Given the description of an element on the screen output the (x, y) to click on. 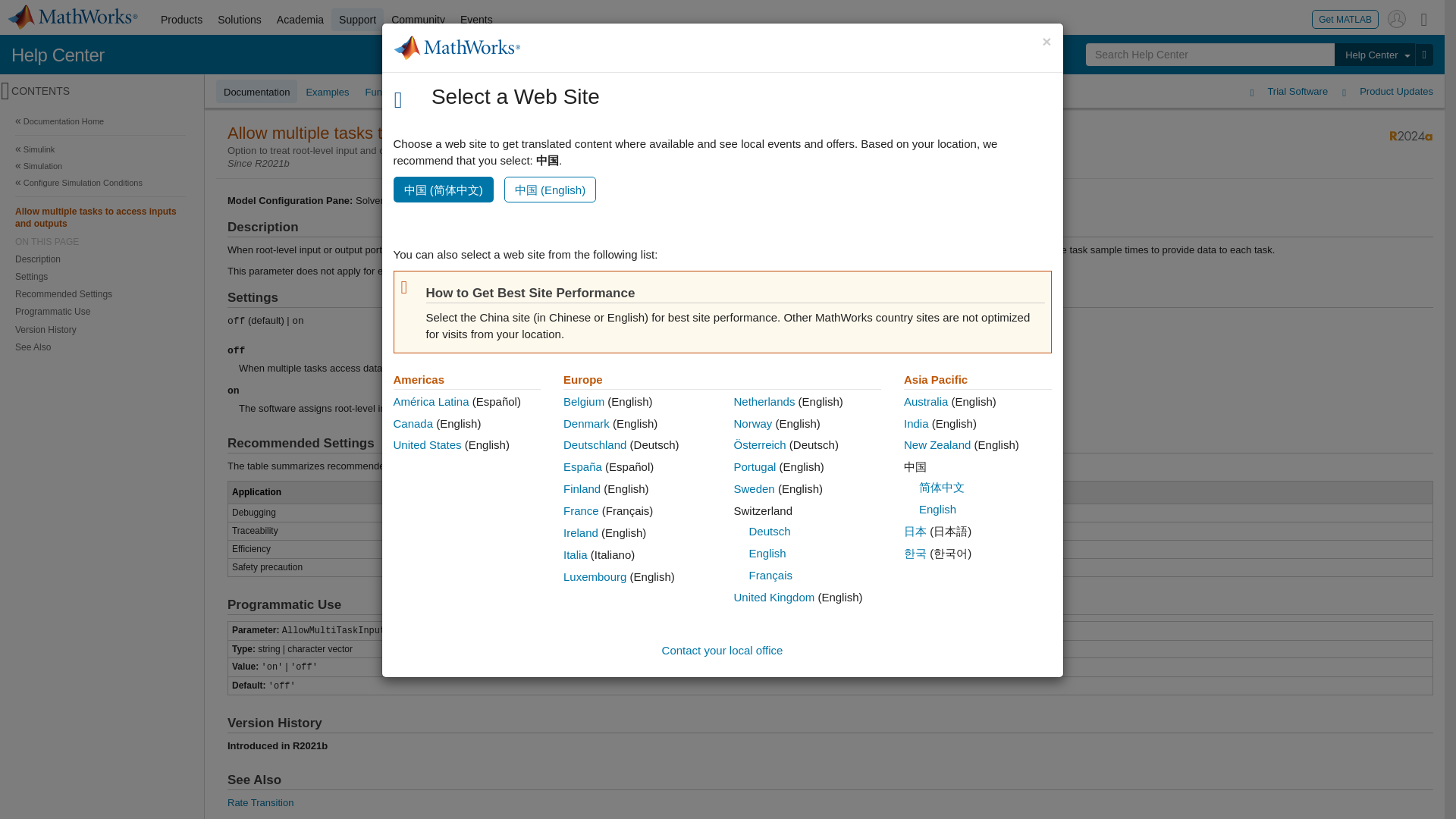
Academia (300, 19)
Get MATLAB (1344, 18)
Community (418, 19)
Matrix Menu (1423, 18)
Support (357, 19)
Events (476, 19)
Products (180, 19)
Solutions (239, 19)
Sign In to Your MathWorks Account (1396, 18)
ON THIS PAGE (100, 241)
Allow multiple tasks to access inputs and outputs (100, 216)
